Given the description of an element on the screen output the (x, y) to click on. 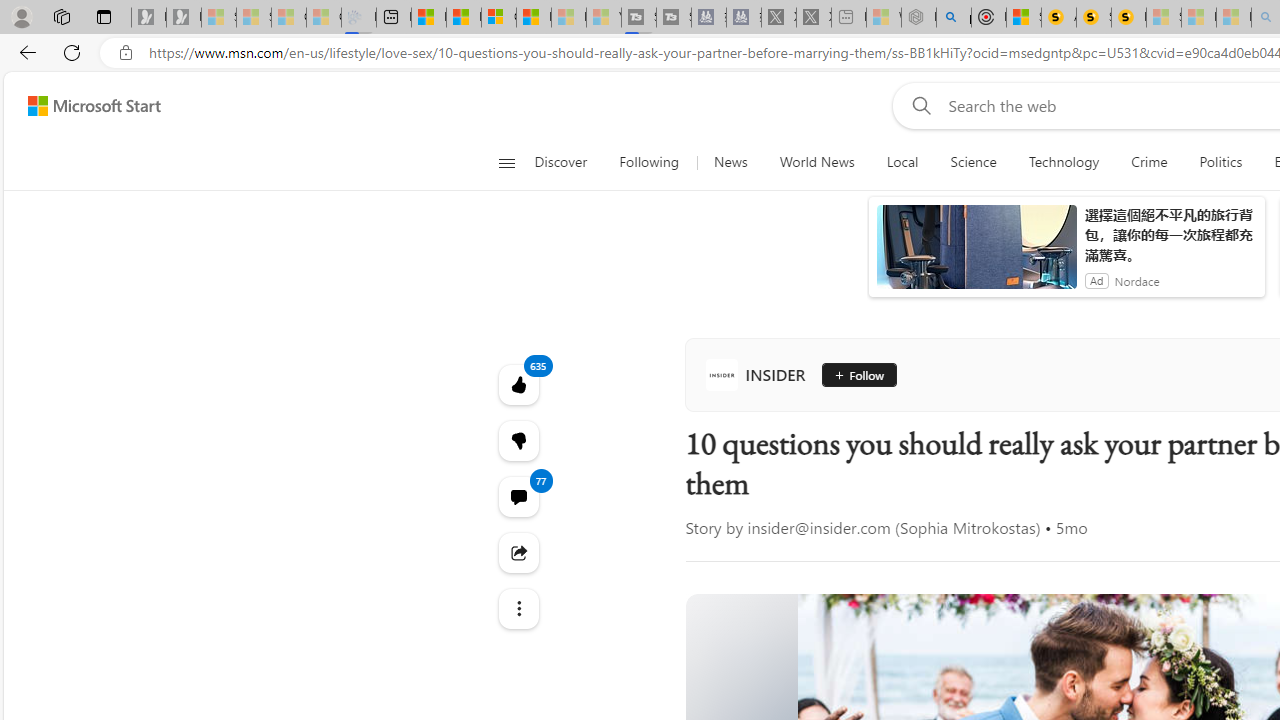
Local (902, 162)
Web search (917, 105)
Wildlife - MSN - Sleeping (883, 17)
Skip to footer (82, 105)
Nordace - Summer Adventures 2024 - Sleeping (918, 17)
Overview (498, 17)
Politics (1220, 162)
Newsletter Sign Up - Sleeping (183, 17)
